Given the description of an element on the screen output the (x, y) to click on. 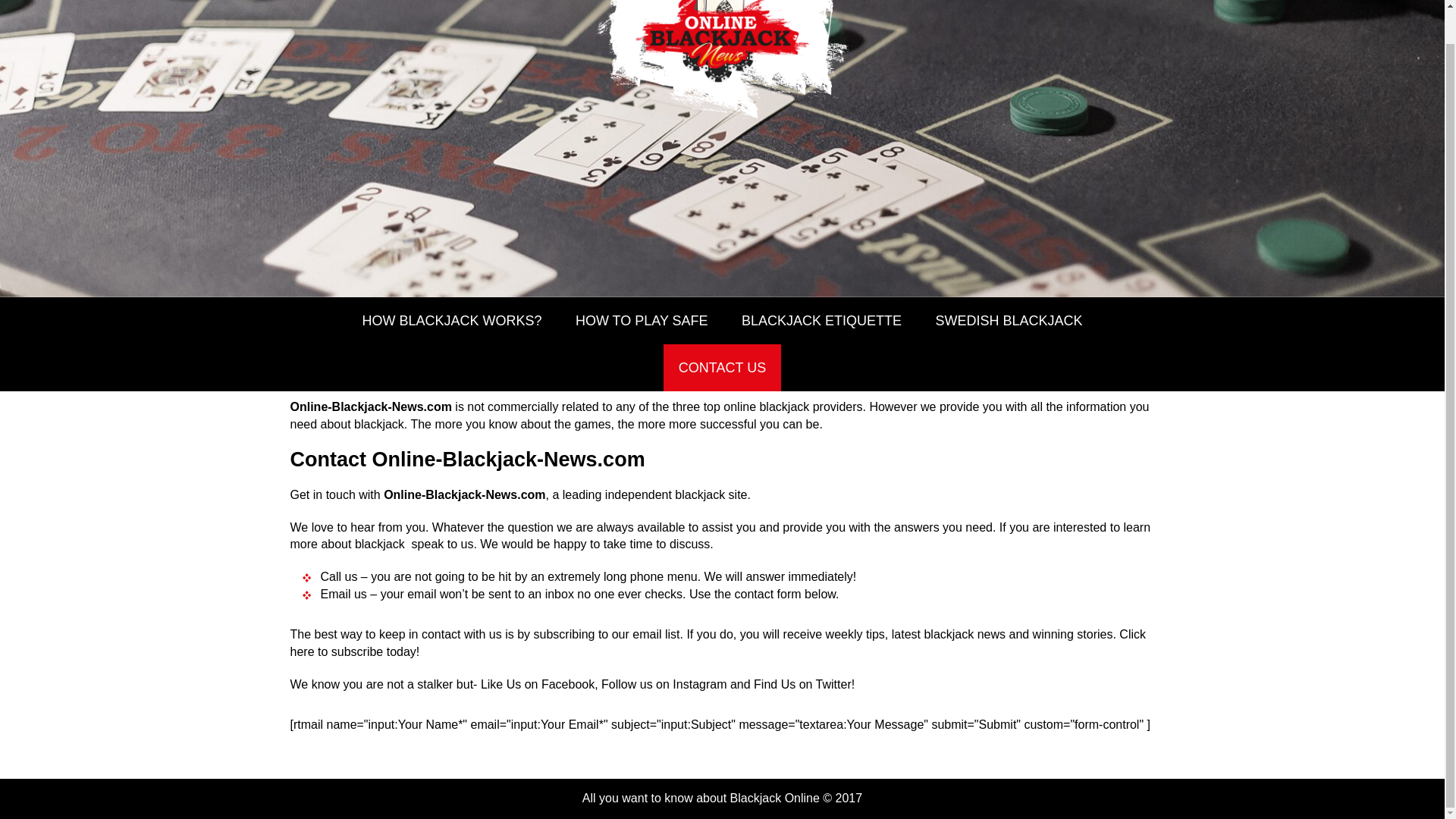
BLACKJACK ETIQUETTE (821, 320)
Blackjack Etiquette (821, 320)
HOW TO PLAY SAFE (641, 320)
How to play safe (641, 320)
Contact Us (721, 367)
CONTACT US (721, 367)
Swedish Blackjack (1008, 320)
SWEDISH BLACKJACK (1008, 320)
HOW BLACKJACK WORKS? (451, 320)
How Blackjack Works? (451, 320)
